Given the description of an element on the screen output the (x, y) to click on. 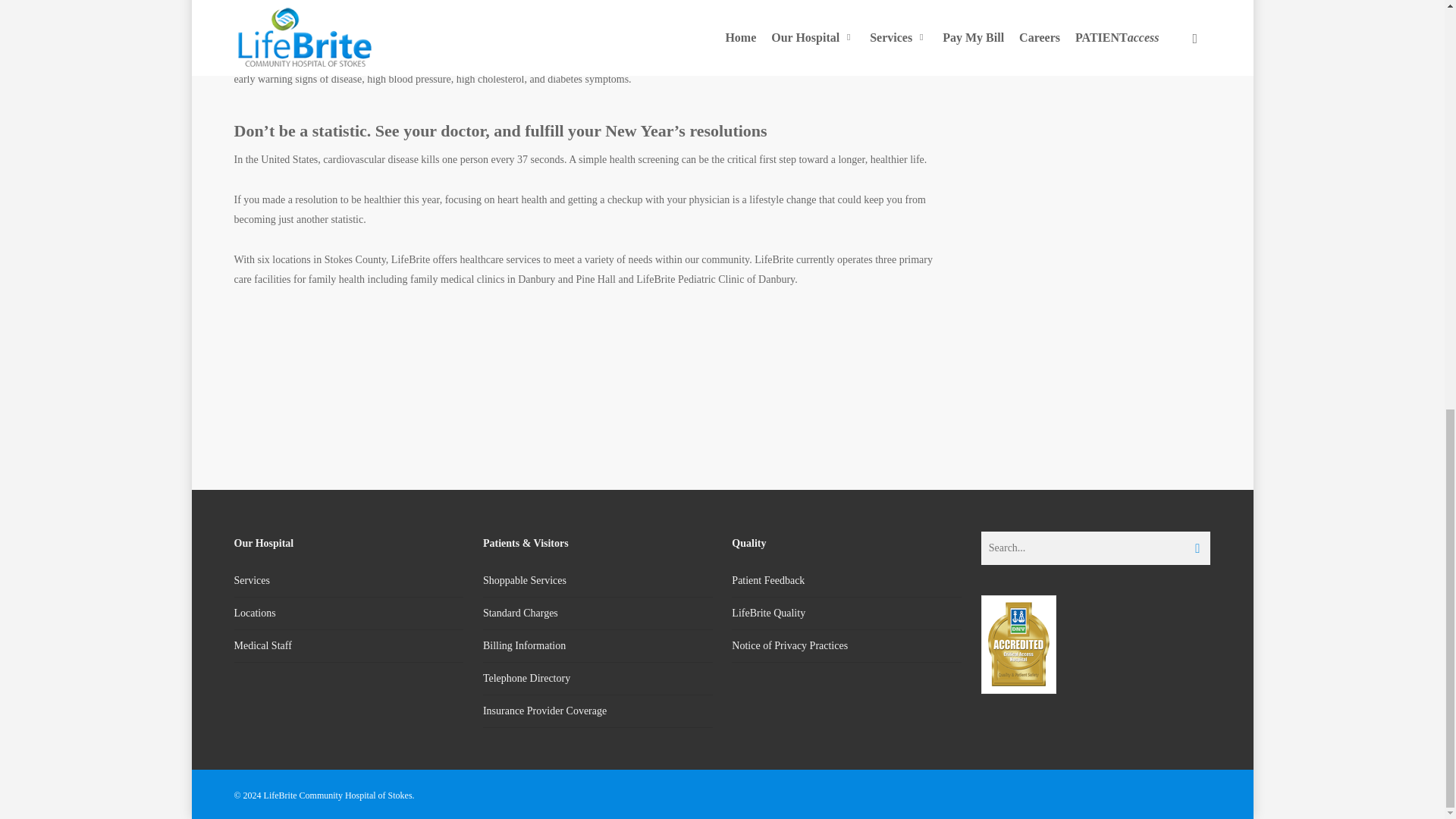
Services (347, 583)
Shoppable Services (598, 583)
Search for: (1096, 548)
Locations (347, 613)
Medical Staff (347, 645)
